Given the description of an element on the screen output the (x, y) to click on. 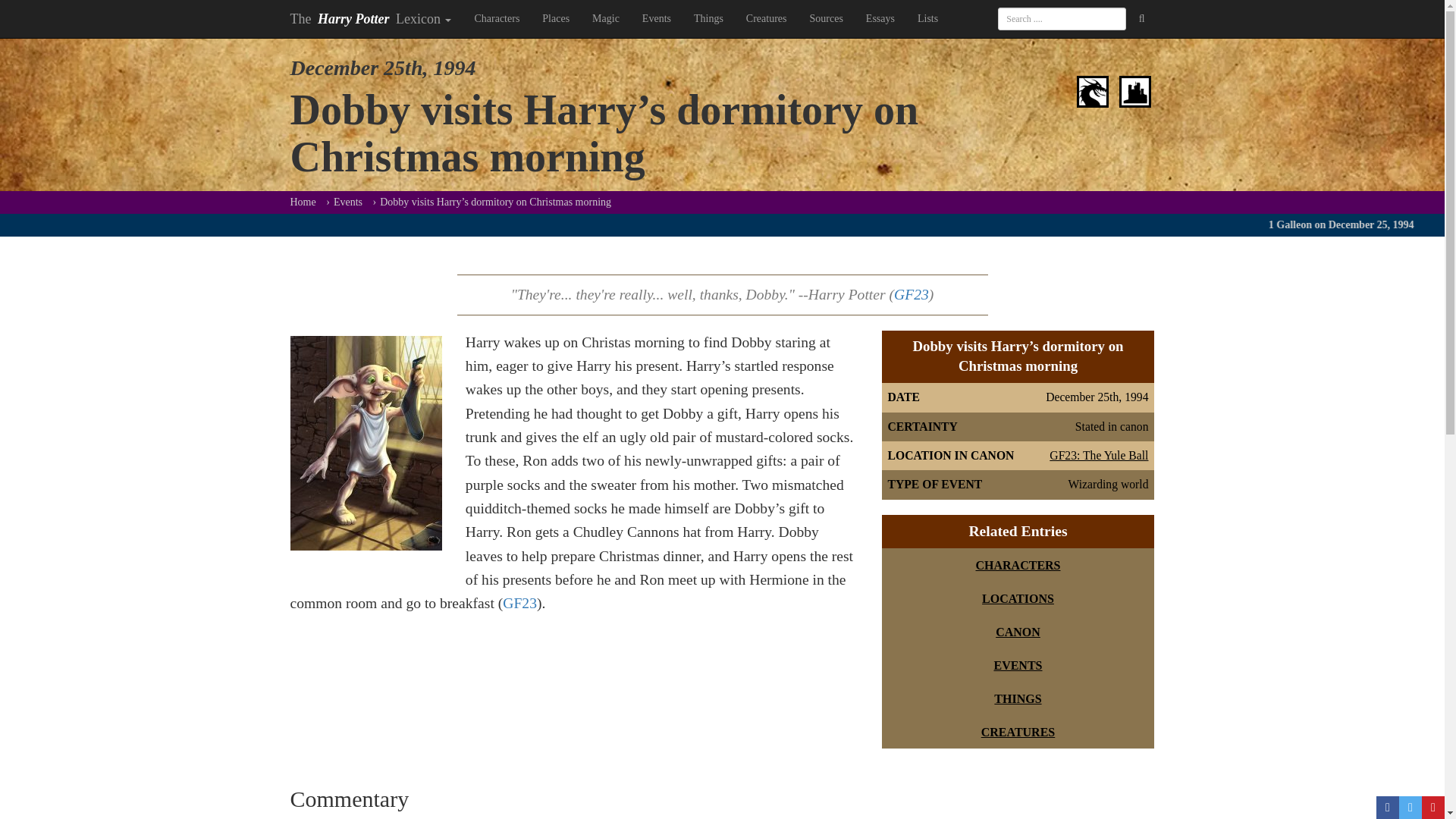
Creatures (1092, 89)
Magic (605, 18)
Hogwarts (1135, 91)
Characters (497, 18)
Places (555, 18)
The Harry Potter Lexicon (371, 18)
Hogwarts (1135, 89)
Creatures (1092, 91)
